Given the description of an element on the screen output the (x, y) to click on. 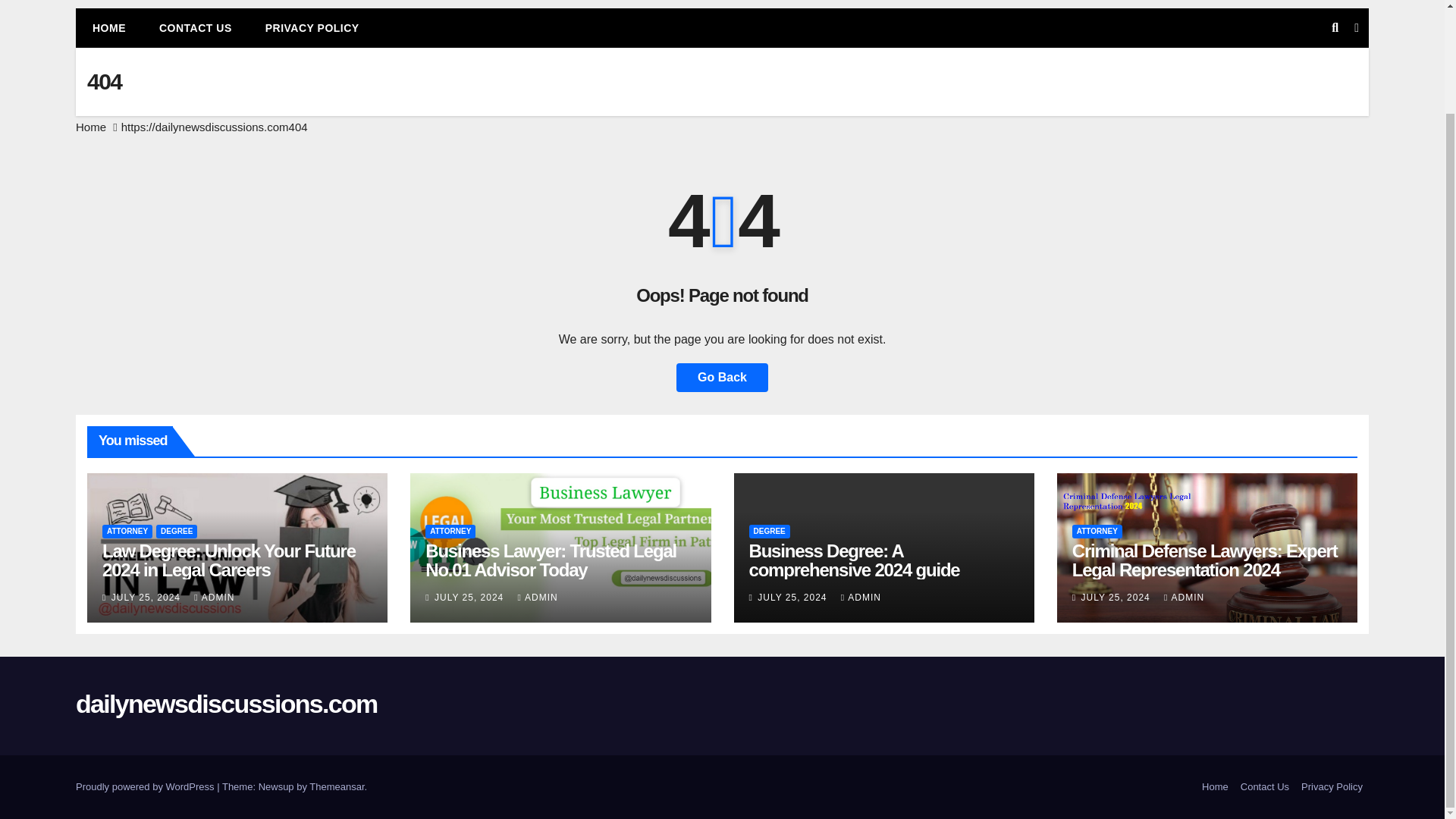
Home (108, 27)
ADMIN (213, 597)
CONTACT US (195, 27)
ATTORNEY (126, 531)
Permalink to: Business Degree: A comprehensive 2024 guide (854, 559)
Home (1214, 786)
DEGREE (175, 531)
